Given the description of an element on the screen output the (x, y) to click on. 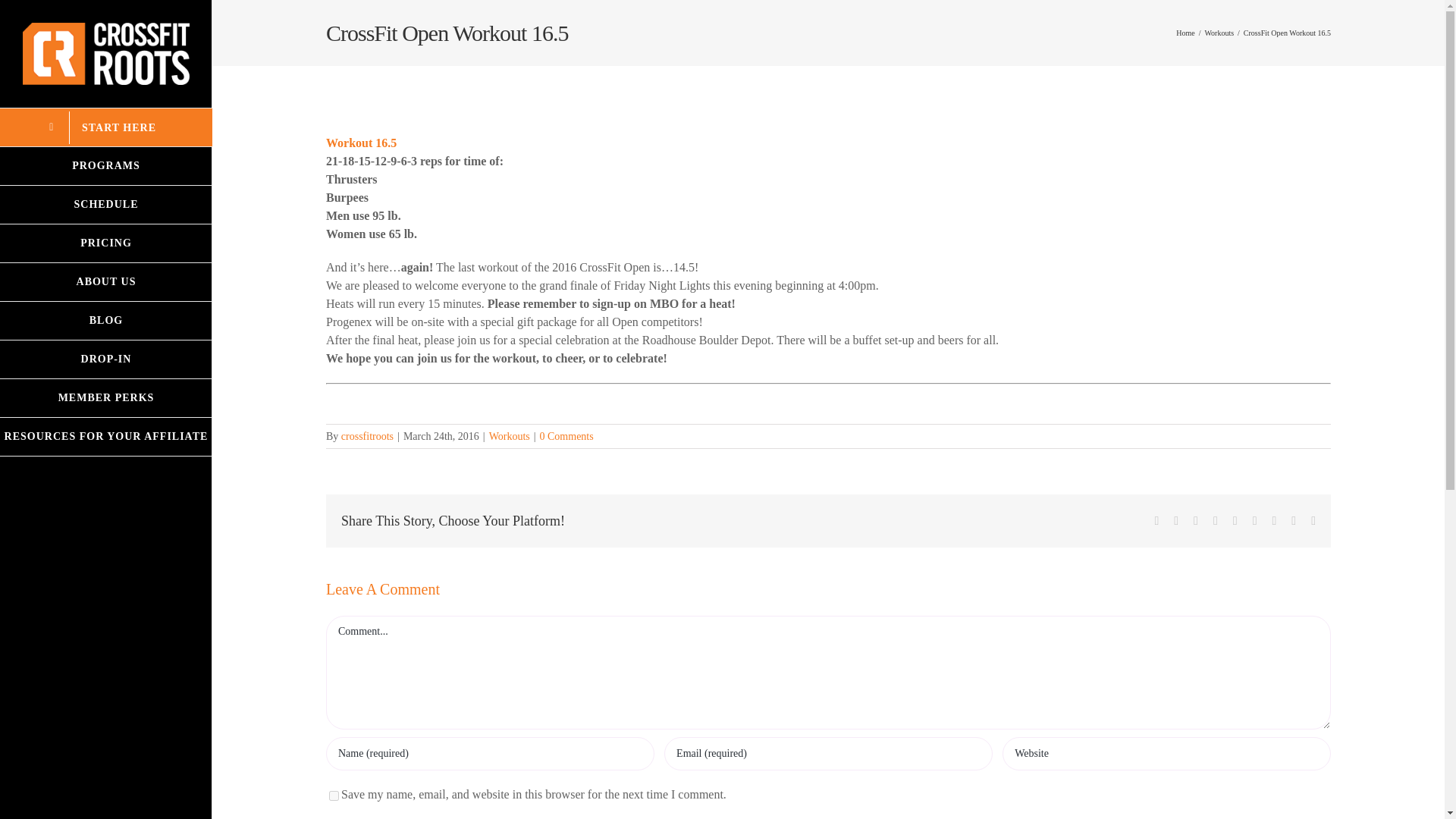
BLOG (106, 321)
ABOUT US (106, 282)
0 Comments (567, 436)
Workout 16.5 (361, 142)
RESOURCES FOR YOUR AFFILIATE (106, 436)
Workouts (1218, 32)
Posts by crossfitroots (366, 436)
yes (334, 795)
crossfitroots (366, 436)
MEMBER PERKS (106, 398)
